Given the description of an element on the screen output the (x, y) to click on. 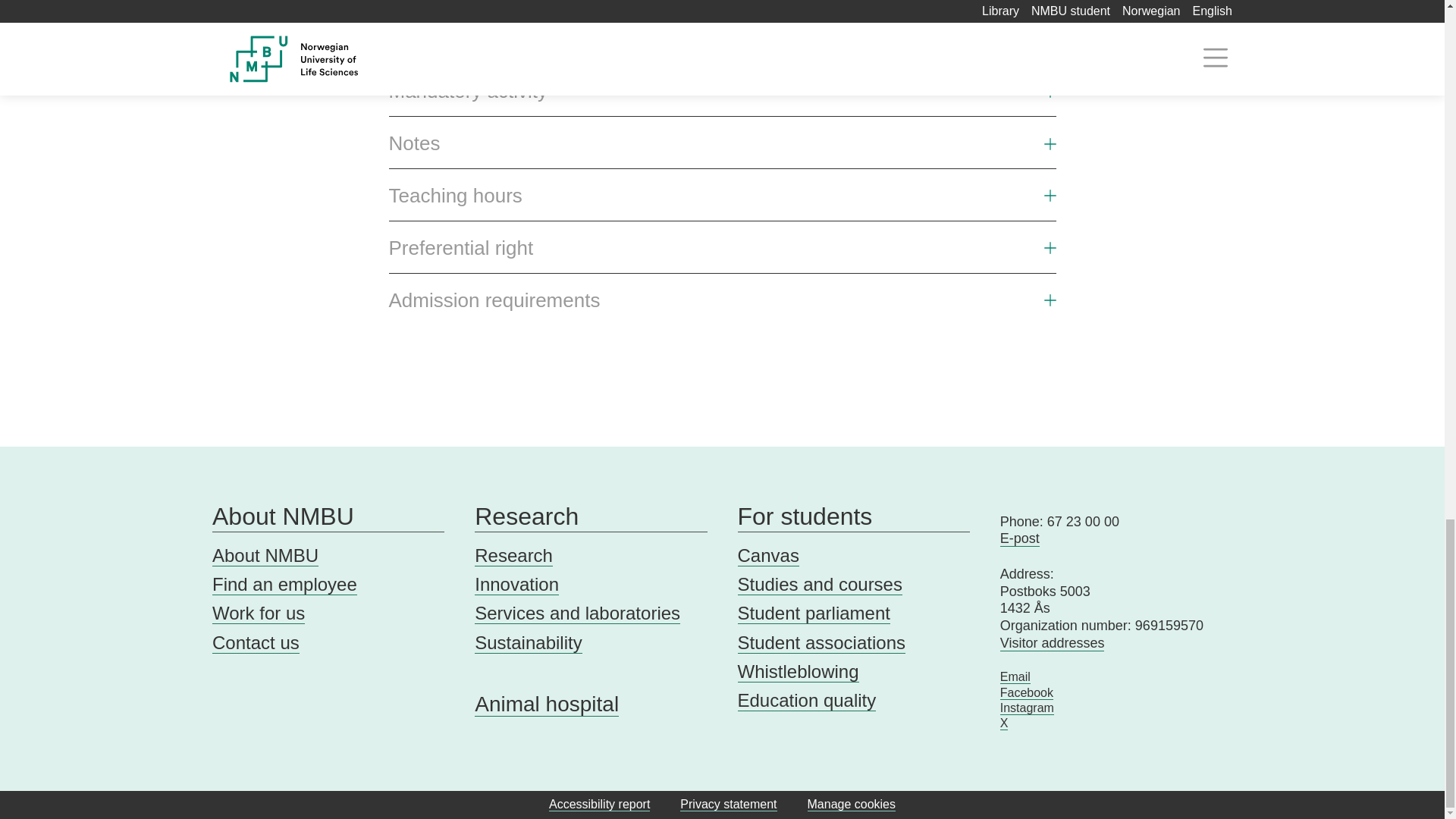
Notes (413, 143)
Examiner scheme (721, 44)
Admission requirements (721, 306)
Preferential right (460, 248)
Admission requirements (493, 300)
Assessment method (721, 5)
Mandatory activity (721, 97)
For students (852, 516)
Teaching hours (721, 201)
Preferential right (721, 253)
About NMBU (265, 555)
Examiner scheme (467, 38)
About NMBU (328, 516)
Research (590, 516)
Mandatory activity (467, 91)
